Given the description of an element on the screen output the (x, y) to click on. 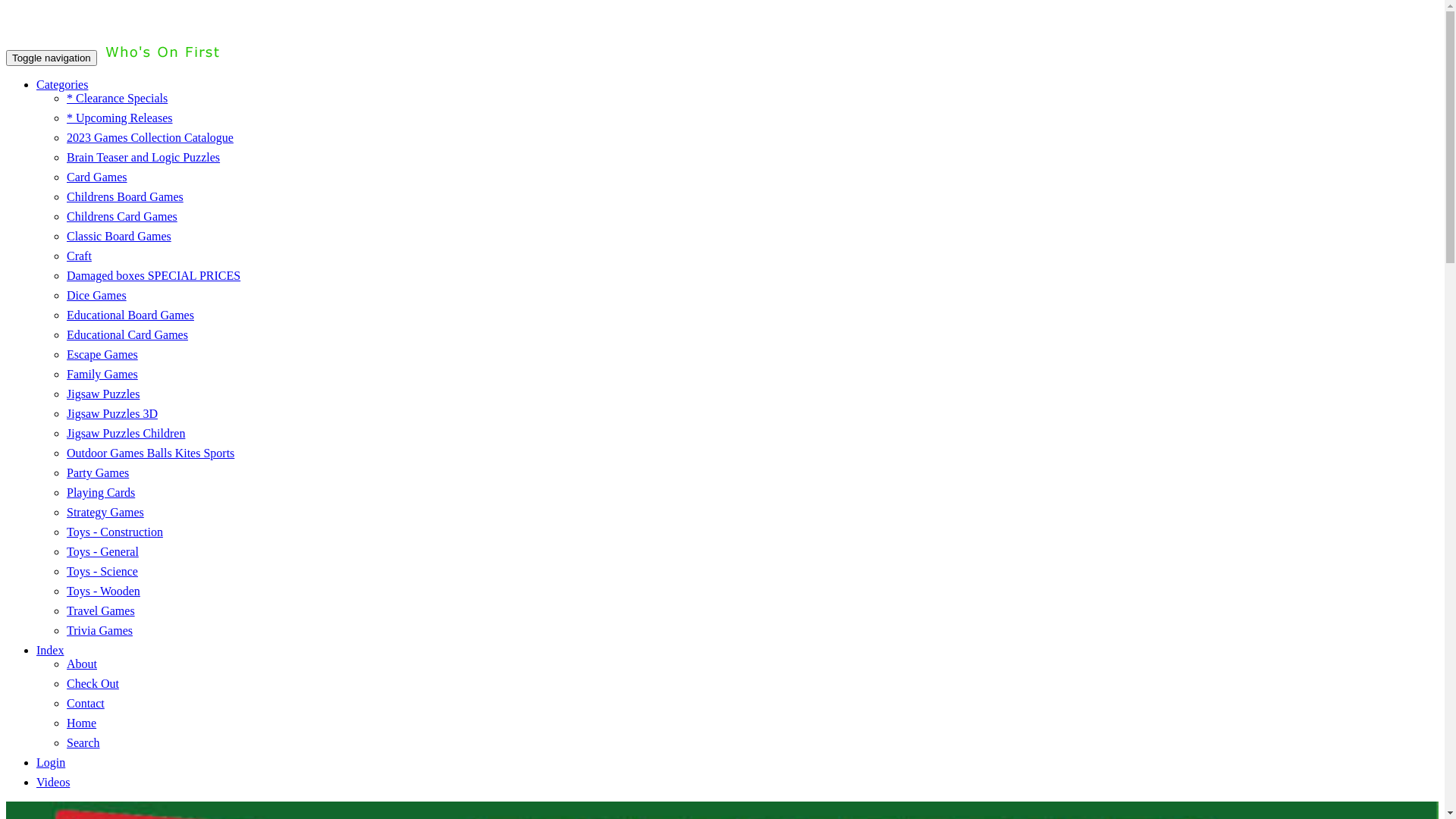
About Element type: text (81, 663)
Jigsaw Puzzles 3D Element type: text (111, 413)
Toys - Science Element type: text (102, 570)
Strategy Games Element type: text (105, 511)
Educational Card Games Element type: text (127, 334)
Login Element type: text (50, 762)
Classic Board Games Element type: text (118, 235)
Contact Element type: text (85, 702)
Toys - Construction Element type: text (114, 531)
Toggle navigation Element type: text (51, 57)
Trivia Games Element type: text (99, 630)
Craft Element type: text (78, 255)
Playing Cards Element type: text (100, 492)
Dice Games Element type: text (96, 294)
* Upcoming Releases Element type: text (119, 117)
* Clearance Specials Element type: text (116, 97)
Categories Element type: text (61, 84)
Damaged boxes SPECIAL PRICES Element type: text (153, 275)
Jigsaw Puzzles Element type: text (102, 393)
Outdoor Games Balls Kites Sports Element type: text (150, 452)
Educational Board Games Element type: text (130, 314)
Home Element type: text (81, 722)
Jigsaw Puzzles Children Element type: text (125, 432)
Index Element type: text (49, 649)
Videos Element type: text (52, 781)
Travel Games Element type: text (100, 610)
Party Games Element type: text (97, 472)
Check Out Element type: text (92, 683)
Card Games Element type: text (96, 176)
Childrens Card Games Element type: text (121, 216)
Escape Games Element type: text (102, 354)
Family Games Element type: text (102, 373)
Brain Teaser and Logic Puzzles Element type: text (142, 156)
2023 Games Collection Catalogue Element type: text (149, 137)
Childrens Board Games Element type: text (124, 196)
Search Element type: text (83, 742)
Toys - Wooden Element type: text (103, 590)
Toys - General Element type: text (102, 551)
